Given the description of an element on the screen output the (x, y) to click on. 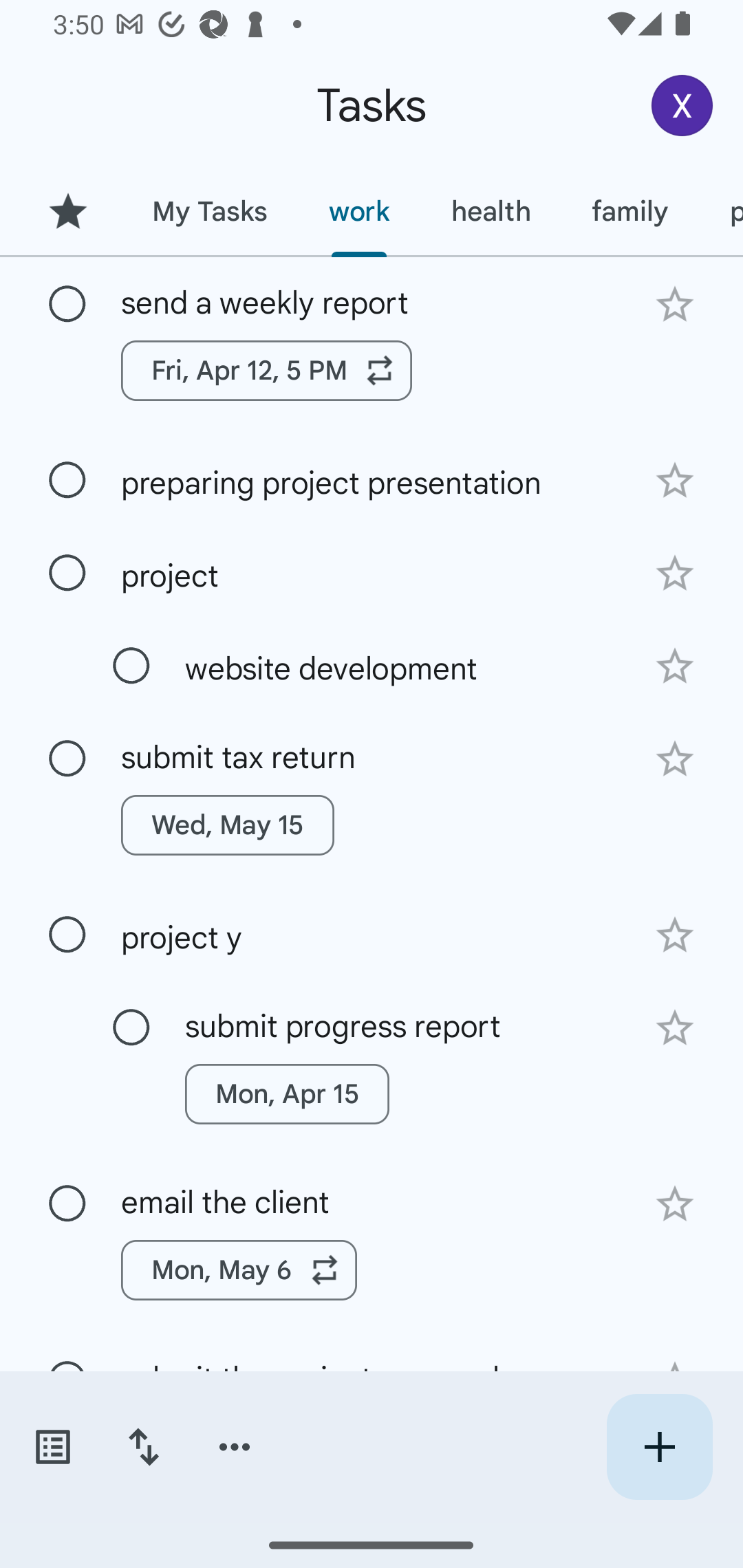
Starred (67, 211)
My Tasks (209, 211)
health (490, 211)
family (629, 211)
Add star (674, 303)
Mark as complete (67, 304)
Fri, Apr 12, 5 PM (266, 369)
Add star (674, 480)
Mark as complete (67, 480)
Add star (674, 573)
Mark as complete (67, 572)
Add star (674, 665)
Mark as complete (131, 666)
Add star (674, 758)
Mark as complete (67, 759)
Wed, May 15 (227, 824)
Add star (674, 935)
Mark as complete (67, 935)
Add star (674, 1028)
Mark as complete (131, 1027)
Mon, Apr 15 (287, 1093)
Add star (674, 1203)
Mark as complete (67, 1204)
Mon, May 6 (239, 1269)
Switch task lists (52, 1447)
Create new task (659, 1446)
Change sort order (143, 1446)
More options (234, 1446)
